Given the description of an element on the screen output the (x, y) to click on. 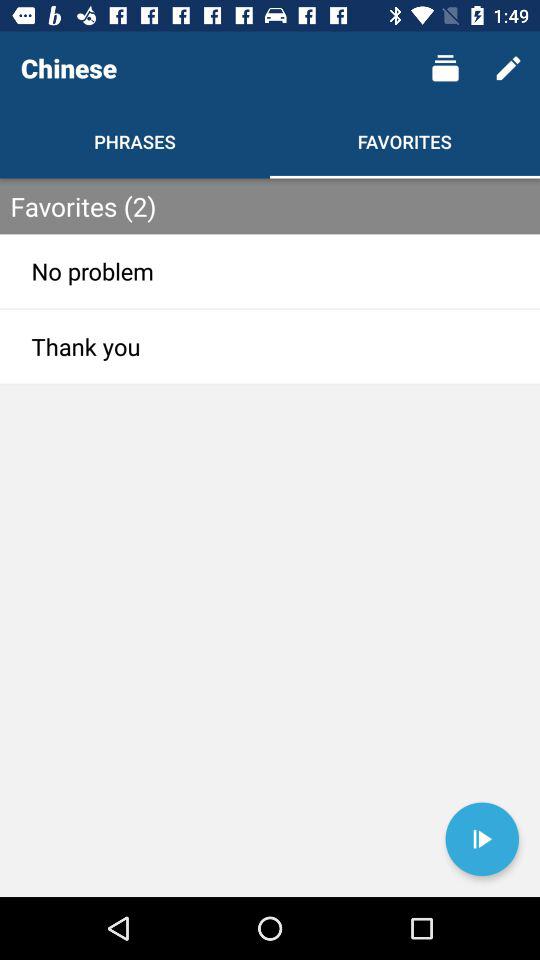
tap icon to the right of chinese (444, 67)
